Given the description of an element on the screen output the (x, y) to click on. 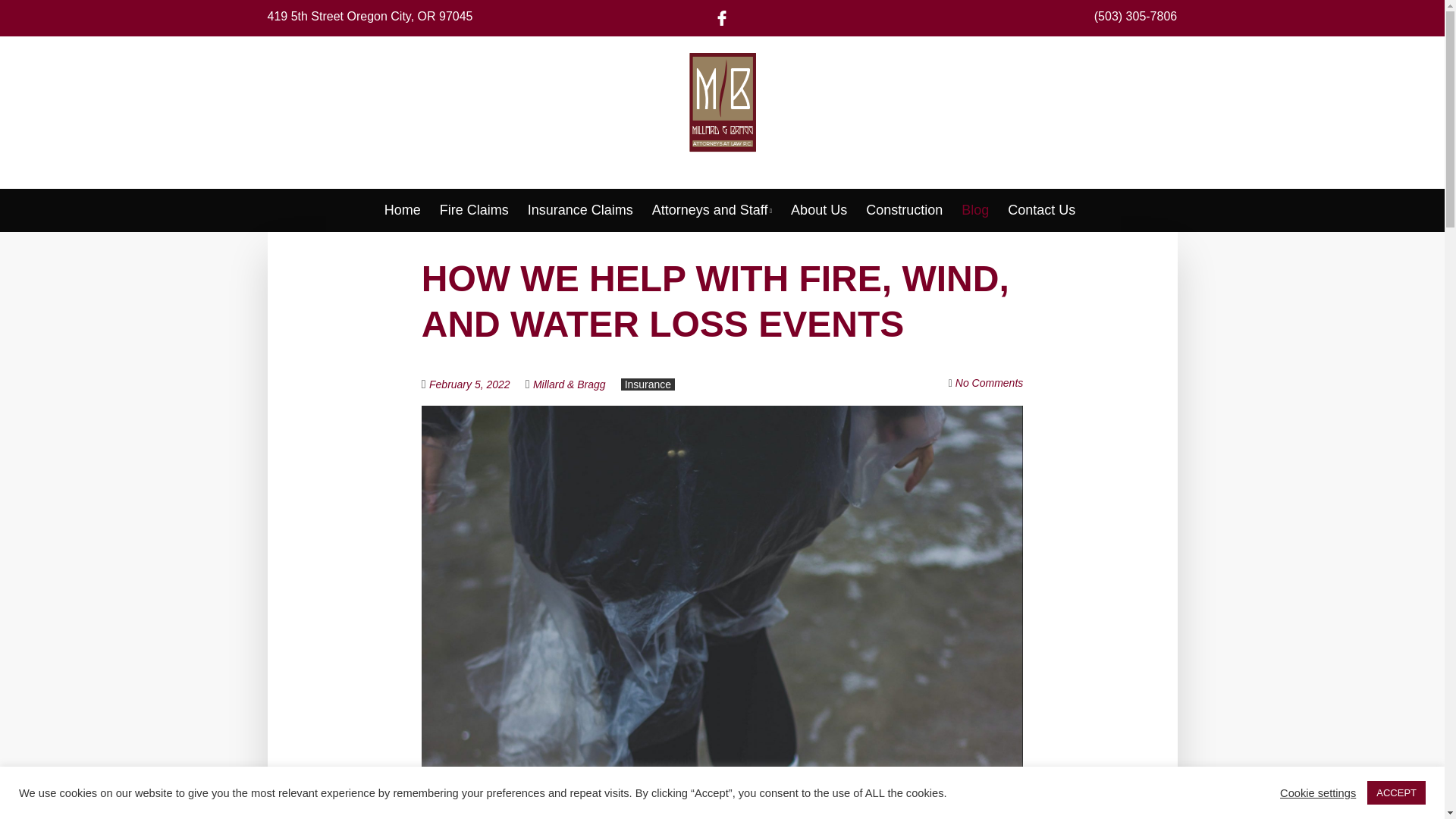
February 5, 2022 (477, 383)
About Us (818, 209)
Fire Claims (473, 209)
Insurance (648, 384)
Blog (974, 209)
419 5th Street Oregon City, OR 97045 (368, 15)
Attorneys and Staff (711, 209)
Contact Us (1041, 209)
Construction (904, 209)
Insurance Claims (580, 209)
Home (402, 209)
No Comments (989, 382)
